Given the description of an element on the screen output the (x, y) to click on. 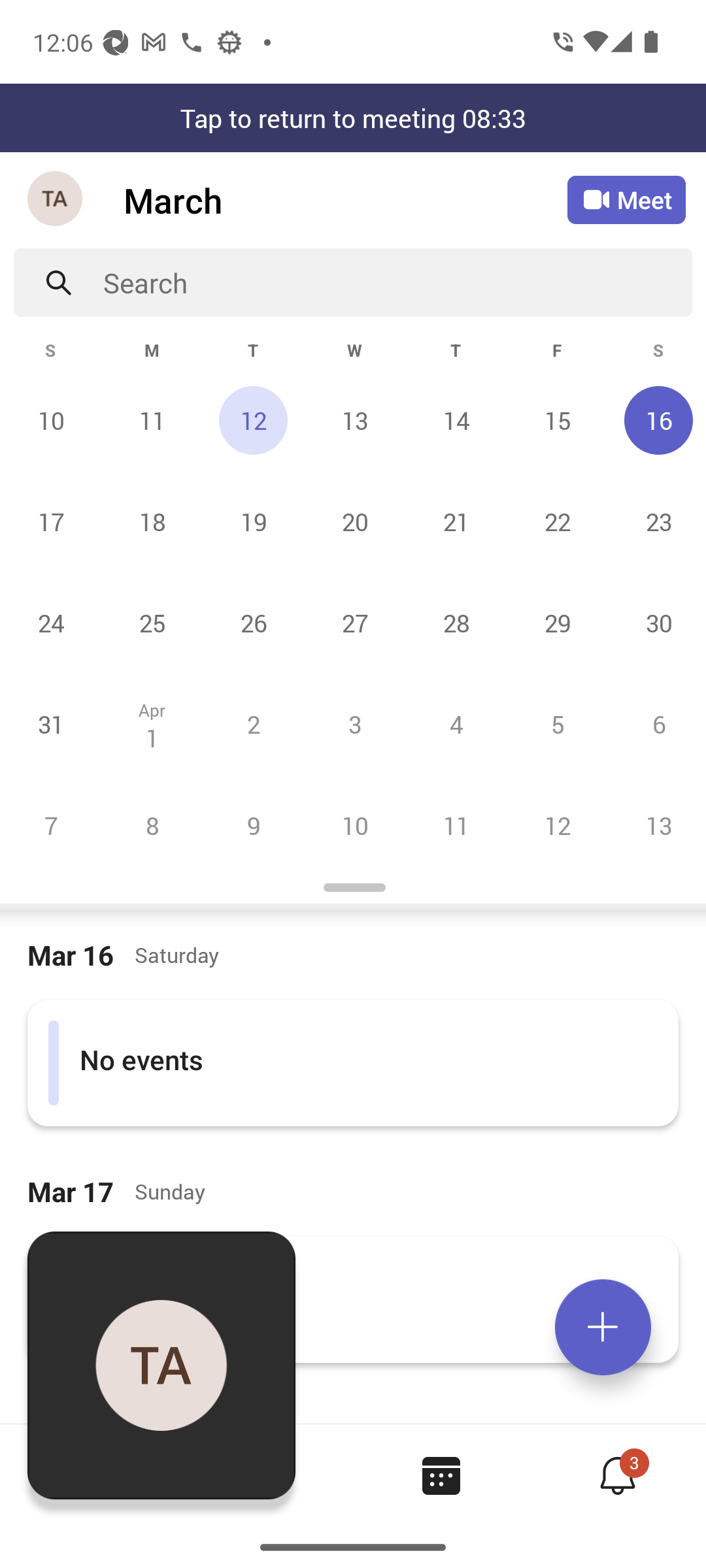
Tap to return to meeting 08:33 (353, 117)
Navigation (56, 199)
Meet Meet now or join with an ID (626, 199)
Search (397, 281)
Sunday, March 10 10 (50, 420)
Monday, March 11 11 (151, 420)
Tuesday, March 12, Today 12 (253, 420)
Wednesday, March 13 13 (354, 420)
Thursday, March 14 14 (455, 420)
Friday, March 15 15 (556, 420)
Saturday, March 16, Selected 16 (656, 420)
Sunday, March 17 17 (50, 521)
Monday, March 18 18 (151, 521)
Tuesday, March 19 19 (253, 521)
Wednesday, March 20 20 (354, 521)
Thursday, March 21 21 (455, 521)
Friday, March 22 22 (556, 521)
Saturday, March 23 23 (656, 521)
Sunday, March 24 24 (50, 623)
Monday, March 25 25 (151, 623)
Tuesday, March 26 26 (253, 623)
Wednesday, March 27 27 (354, 623)
Thursday, March 28 28 (455, 623)
Friday, March 29 29 (556, 623)
Saturday, March 30 30 (656, 623)
Sunday, March 31 31 (50, 724)
Monday, April 1 Apr 1 (151, 724)
Tuesday, April 2 2 (253, 724)
Wednesday, April 3 3 (354, 724)
Thursday, April 4 4 (455, 724)
Friday, April 5 5 (556, 724)
Saturday, April 6 6 (656, 724)
Sunday, April 7 7 (50, 825)
Monday, April 8 8 (151, 825)
Tuesday, April 9 9 (253, 825)
Wednesday, April 10 10 (354, 825)
Thursday, April 11 11 (455, 825)
Friday, April 12 12 (556, 825)
Saturday, April 13 13 (656, 825)
Expand meetings menu (602, 1327)
Calendar tab, 3 of 4 (441, 1475)
Activity tab,4 of 4, not selected, 3 new 3 (617, 1475)
